Given the description of an element on the screen output the (x, y) to click on. 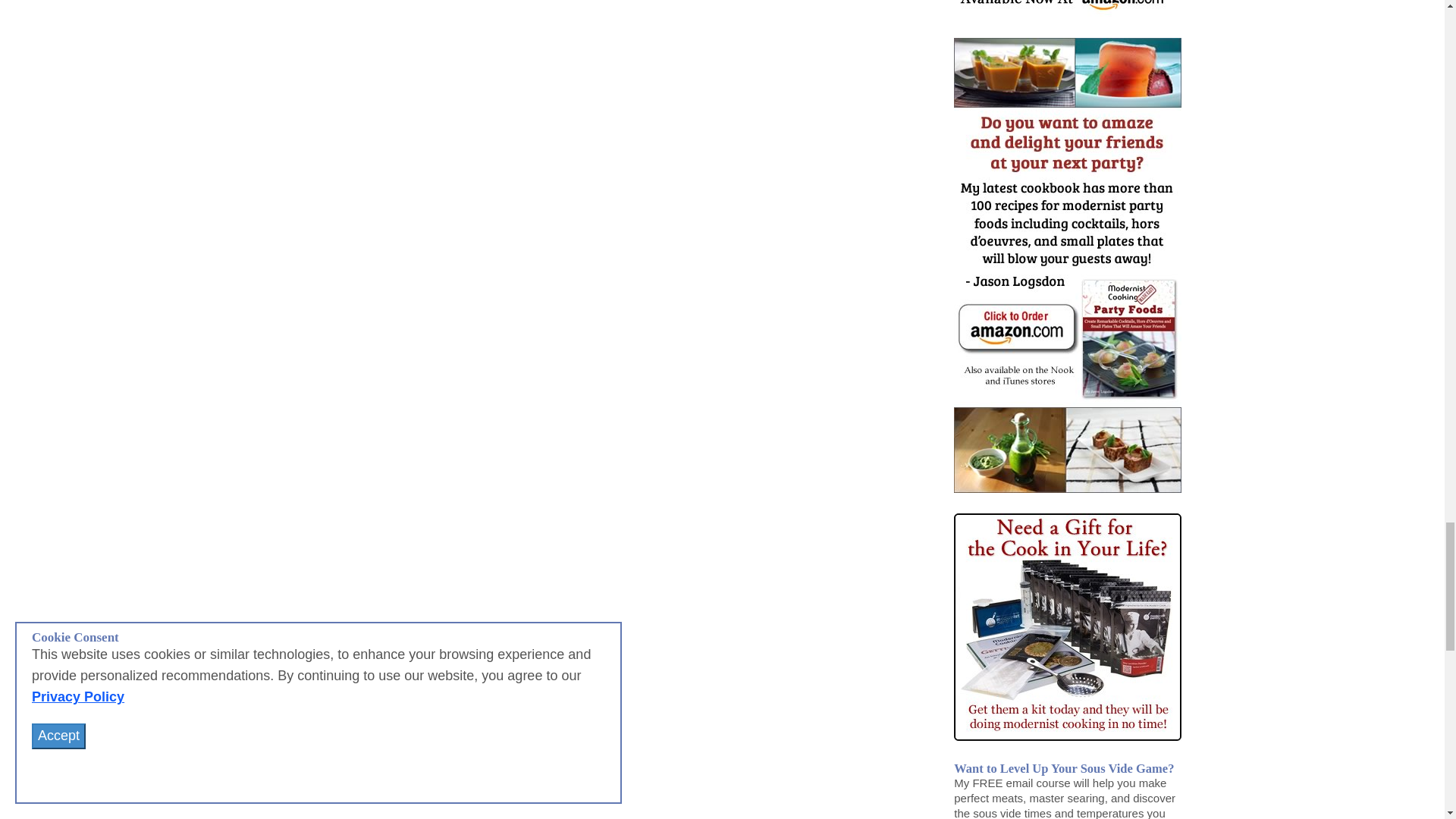
Party Foods book cover large (1066, 265)
Sous vide help book side display2 (1066, 8)
